Given the description of an element on the screen output the (x, y) to click on. 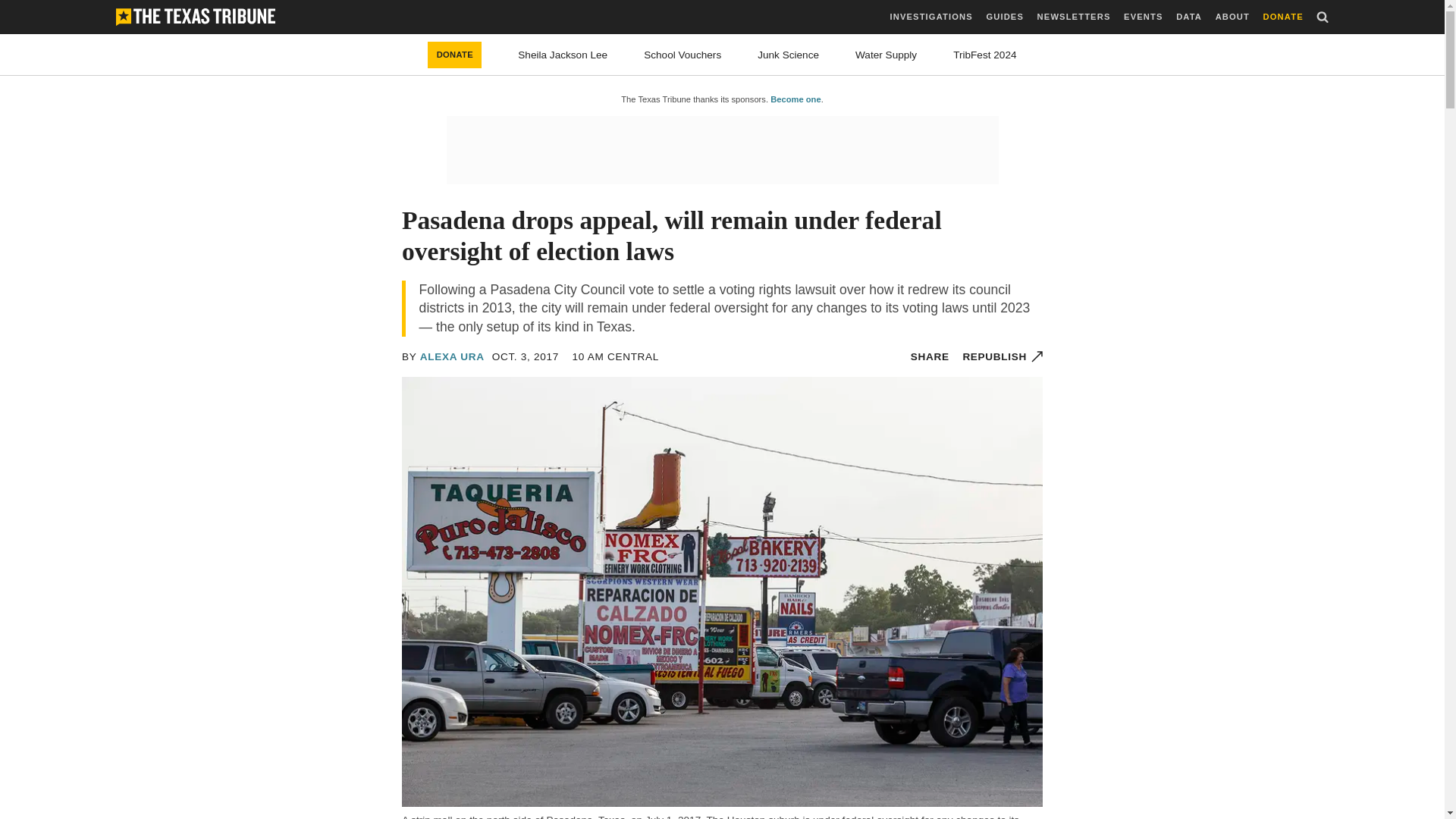
GUIDES (1004, 17)
Sheila Jackson Lee (562, 54)
School Vouchers (681, 54)
2017-10-03 10:55 CDT (525, 356)
Junk Science (787, 54)
DONATE (1283, 17)
REPUBLISH (1002, 356)
EVENTS (1142, 17)
NEWSLETTERS (1073, 17)
INVESTIGATIONS (930, 17)
